Given the description of an element on the screen output the (x, y) to click on. 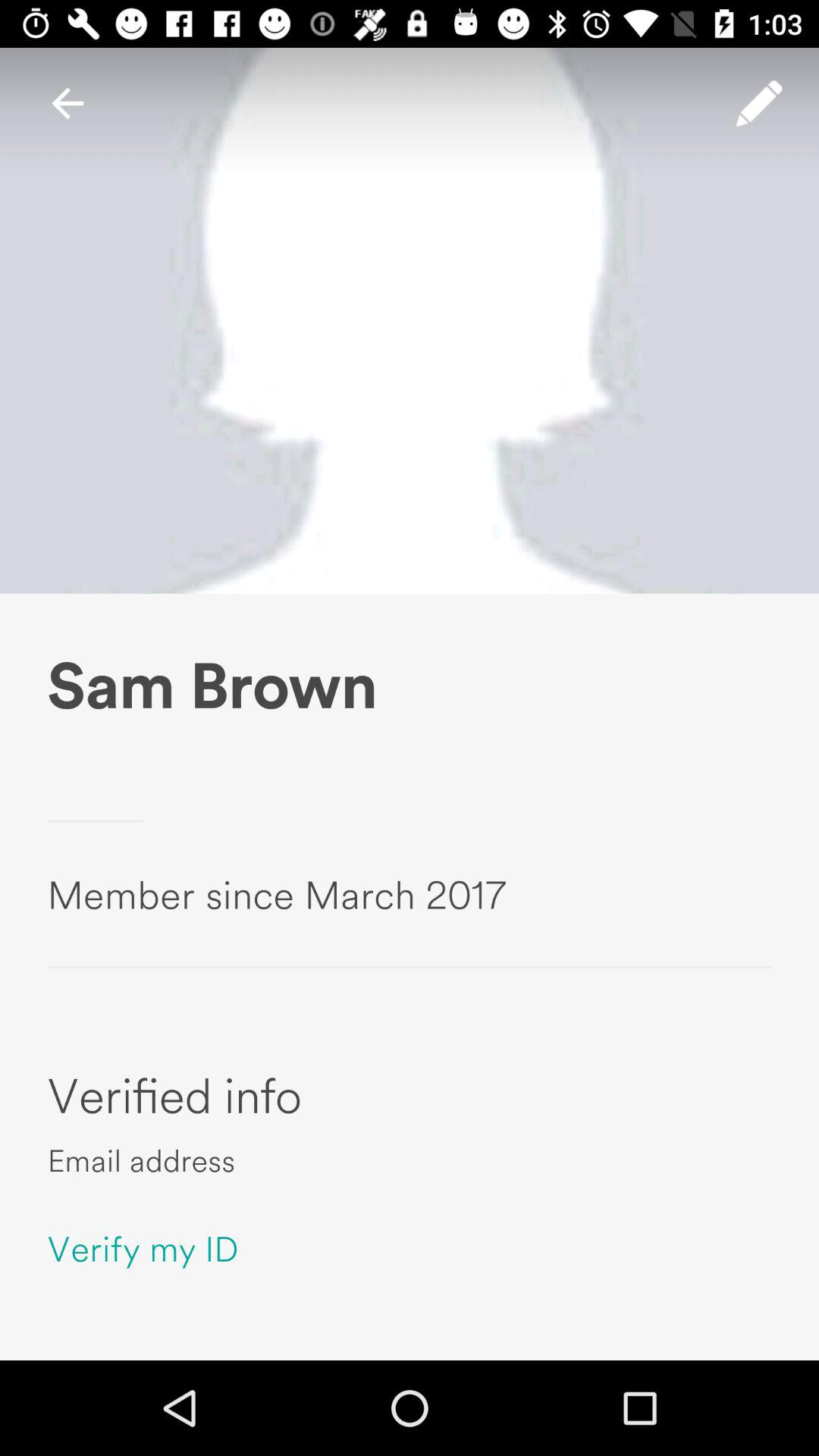
turn off the item above sam brown (759, 103)
